Given the description of an element on the screen output the (x, y) to click on. 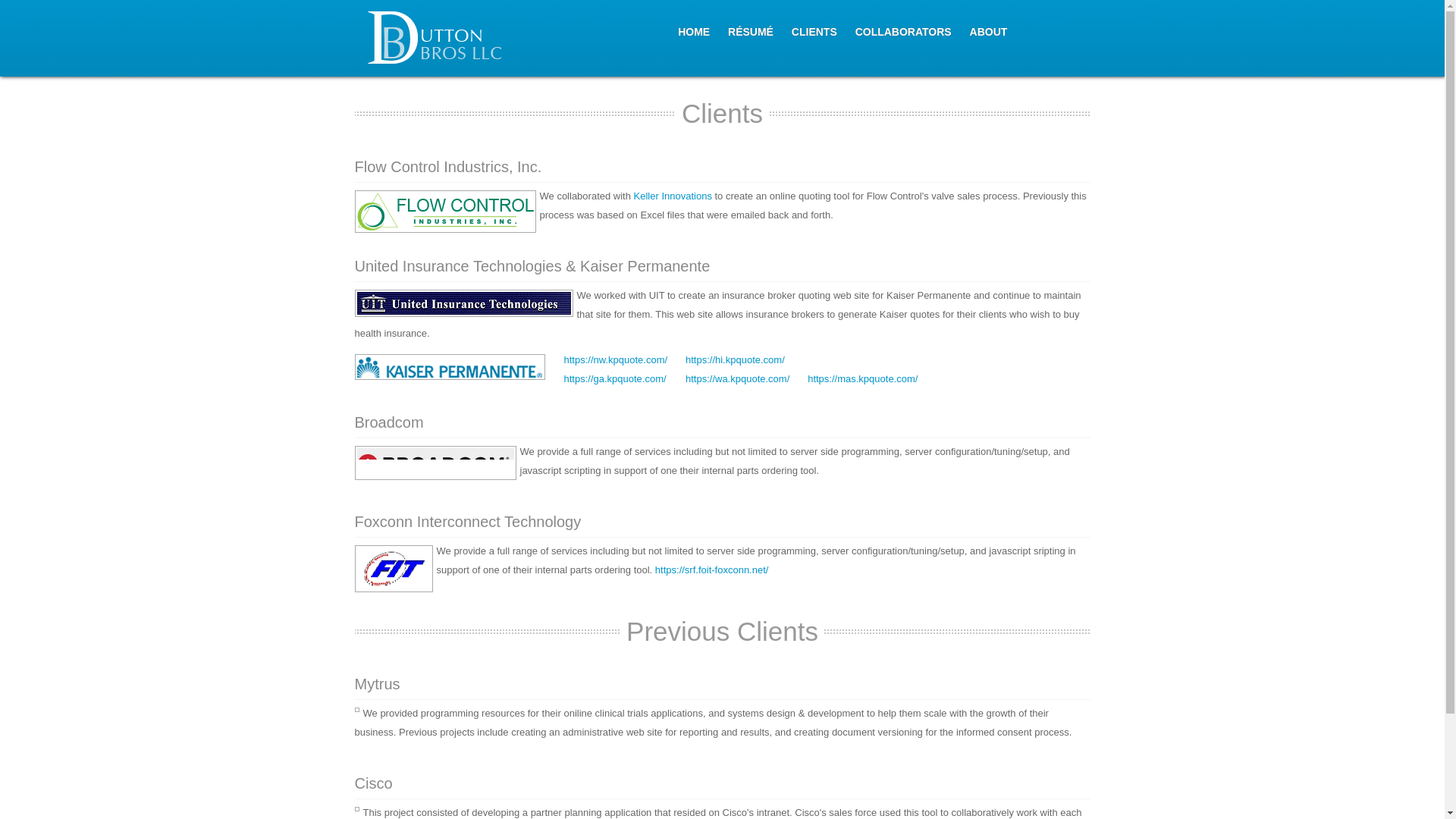
CLIENTS (814, 31)
COLLABORATORS (904, 31)
HOME (694, 31)
Keller Innovations (672, 194)
ABOUT (988, 31)
